Given the description of an element on the screen output the (x, y) to click on. 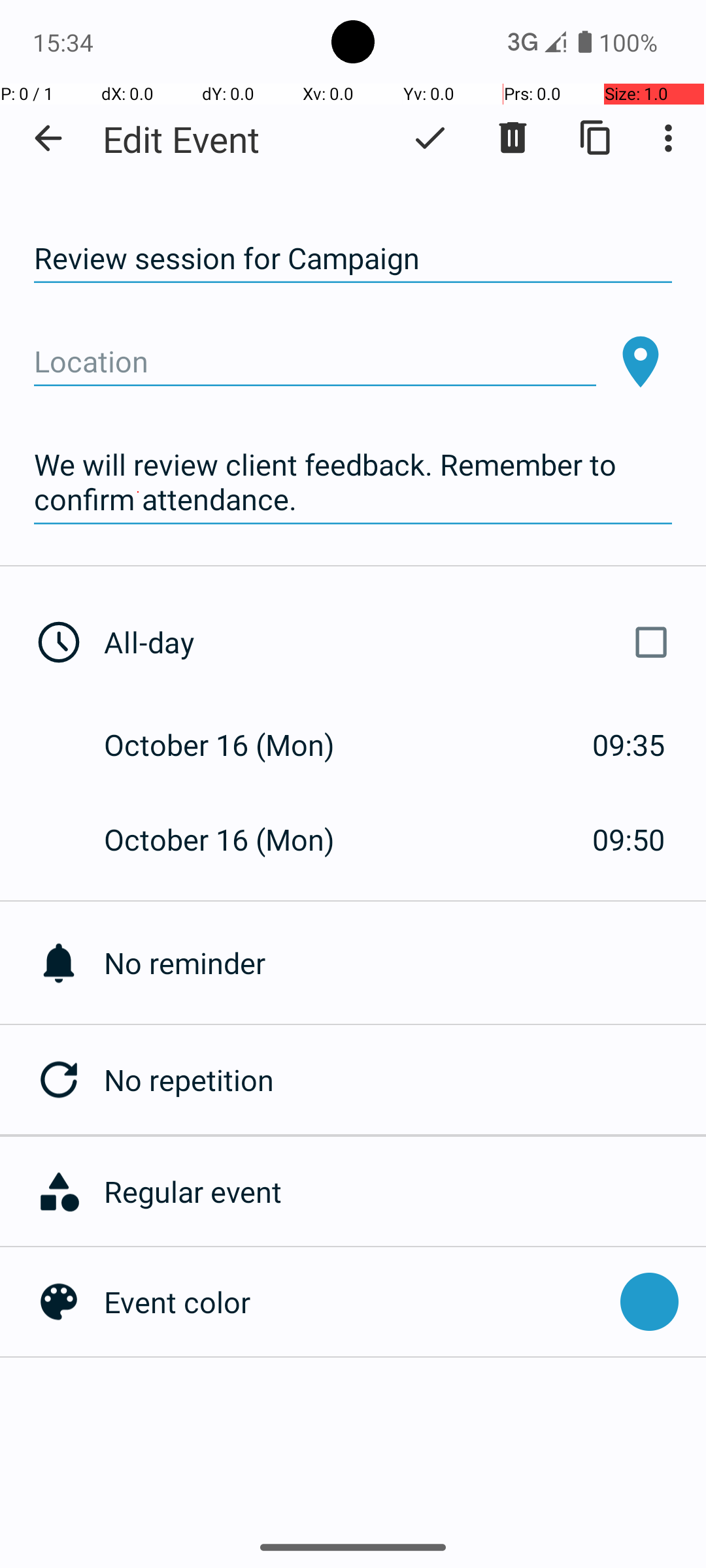
Edit Event Element type: android.widget.TextView (181, 138)
Save Element type: android.widget.Button (429, 137)
Duplicate event Element type: android.widget.Button (595, 137)
Review session for Campaign Element type: android.widget.EditText (352, 258)
Location Element type: android.widget.EditText (314, 361)
We will review client feedback. Remember to confirm attendance. Element type: android.widget.EditText (352, 482)
October 16 (Mon) Element type: android.widget.TextView (232, 744)
09:35 Element type: android.widget.TextView (628, 744)
09:50 Element type: android.widget.TextView (628, 838)
No reminder Element type: android.widget.TextView (404, 962)
No repetition Element type: android.widget.TextView (404, 1079)
All-day Element type: android.widget.CheckBox (390, 642)
Regular event Element type: android.widget.TextView (397, 1191)
Event color Element type: android.widget.TextView (354, 1301)
